Given the description of an element on the screen output the (x, y) to click on. 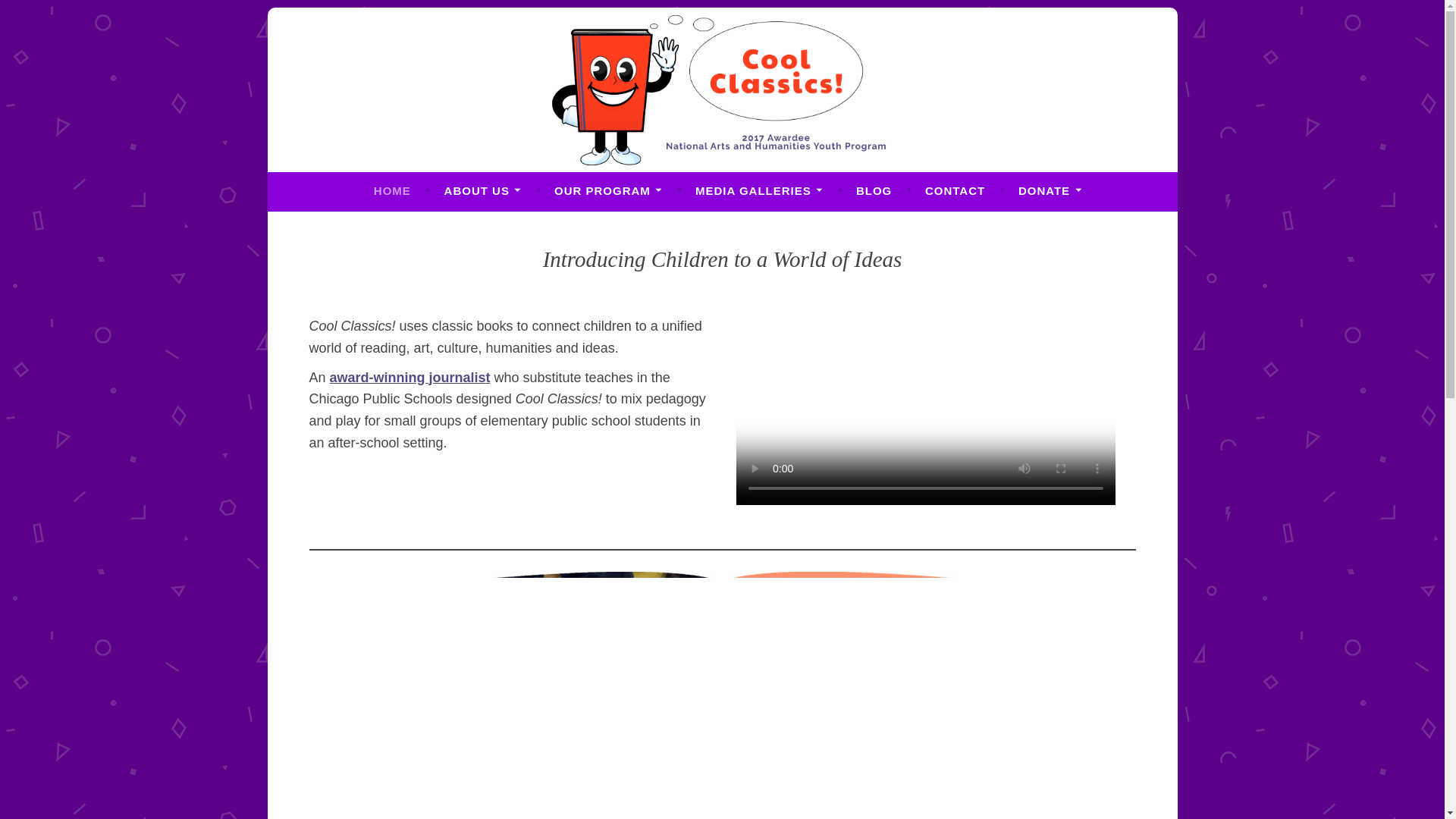
OUR PROGRAM (608, 190)
Cool Classics! (373, 197)
MEDIA GALLERIES (758, 190)
ABOUT US (482, 190)
HOME (392, 190)
